Given the description of an element on the screen output the (x, y) to click on. 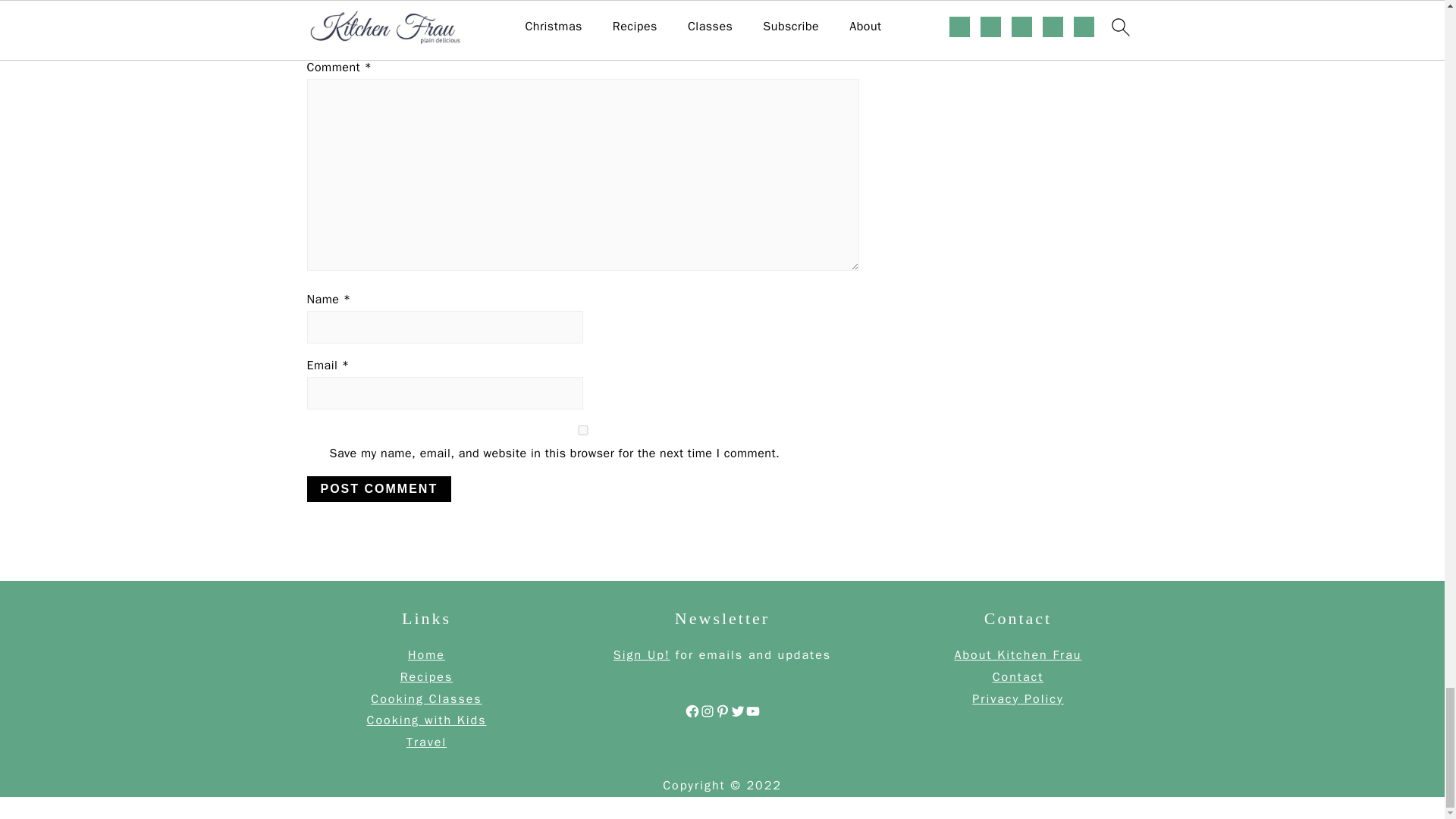
yes (582, 429)
Post Comment (378, 488)
